Given the description of an element on the screen output the (x, y) to click on. 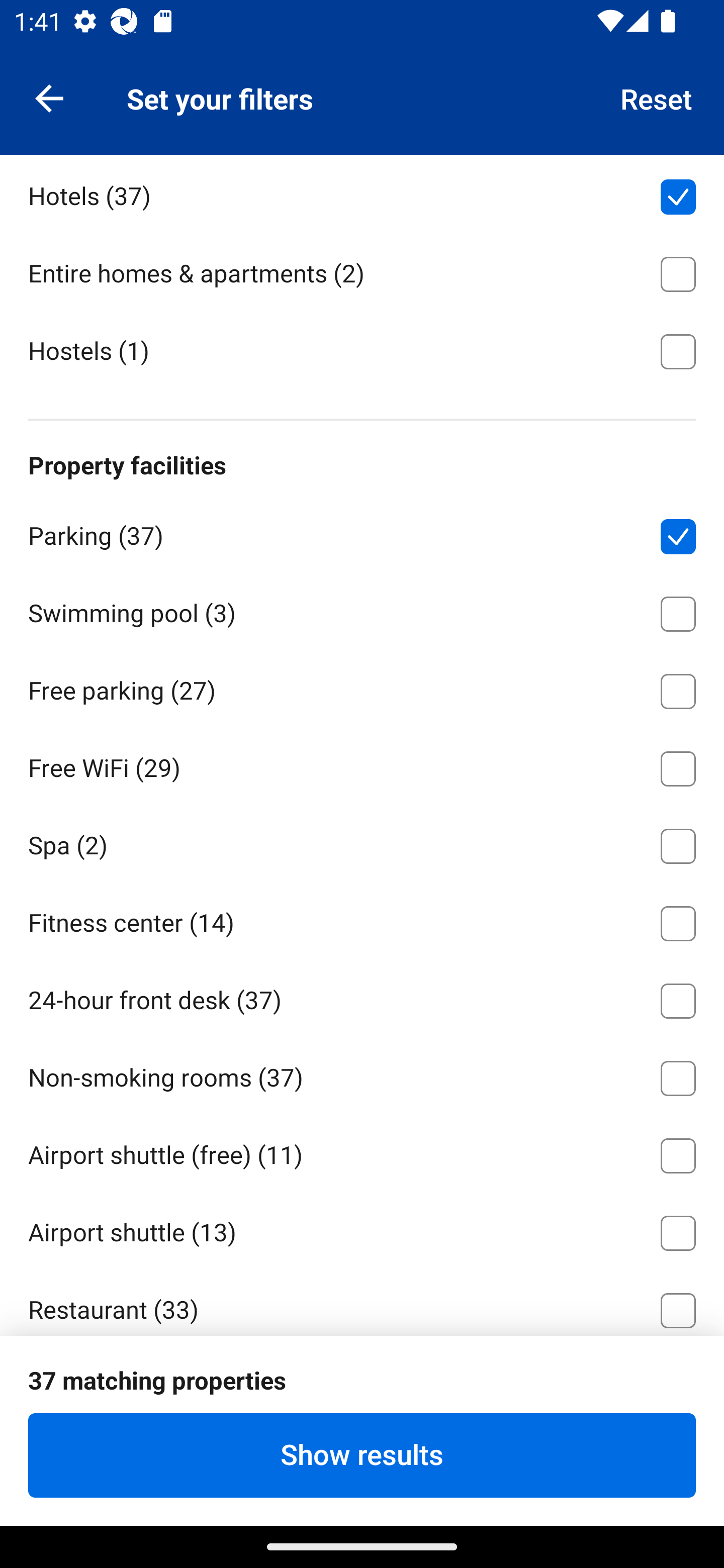
Navigate up (49, 97)
Reset (656, 97)
Hotels ⁦(37) (361, 193)
Entire homes & apartments ⁦(2) (361, 270)
Hostels ⁦(1) (361, 349)
Parking ⁦(37) (361, 532)
Swimming pool ⁦(3) (361, 610)
Free parking ⁦(27) (361, 687)
Free WiFi ⁦(29) (361, 764)
Spa ⁦(2) (361, 842)
Fitness center ⁦(14) (361, 920)
24-hour front desk ⁦(37) (361, 997)
Non-smoking rooms ⁦(37) (361, 1074)
Airport shuttle (free) ⁦(11) (361, 1152)
Airport shuttle ⁦(13) (361, 1229)
Restaurant ⁦(33) (361, 1301)
Family rooms ⁦(21) (361, 1384)
Wheelchair accessible ⁦(9) (361, 1461)
